Given the description of an element on the screen output the (x, y) to click on. 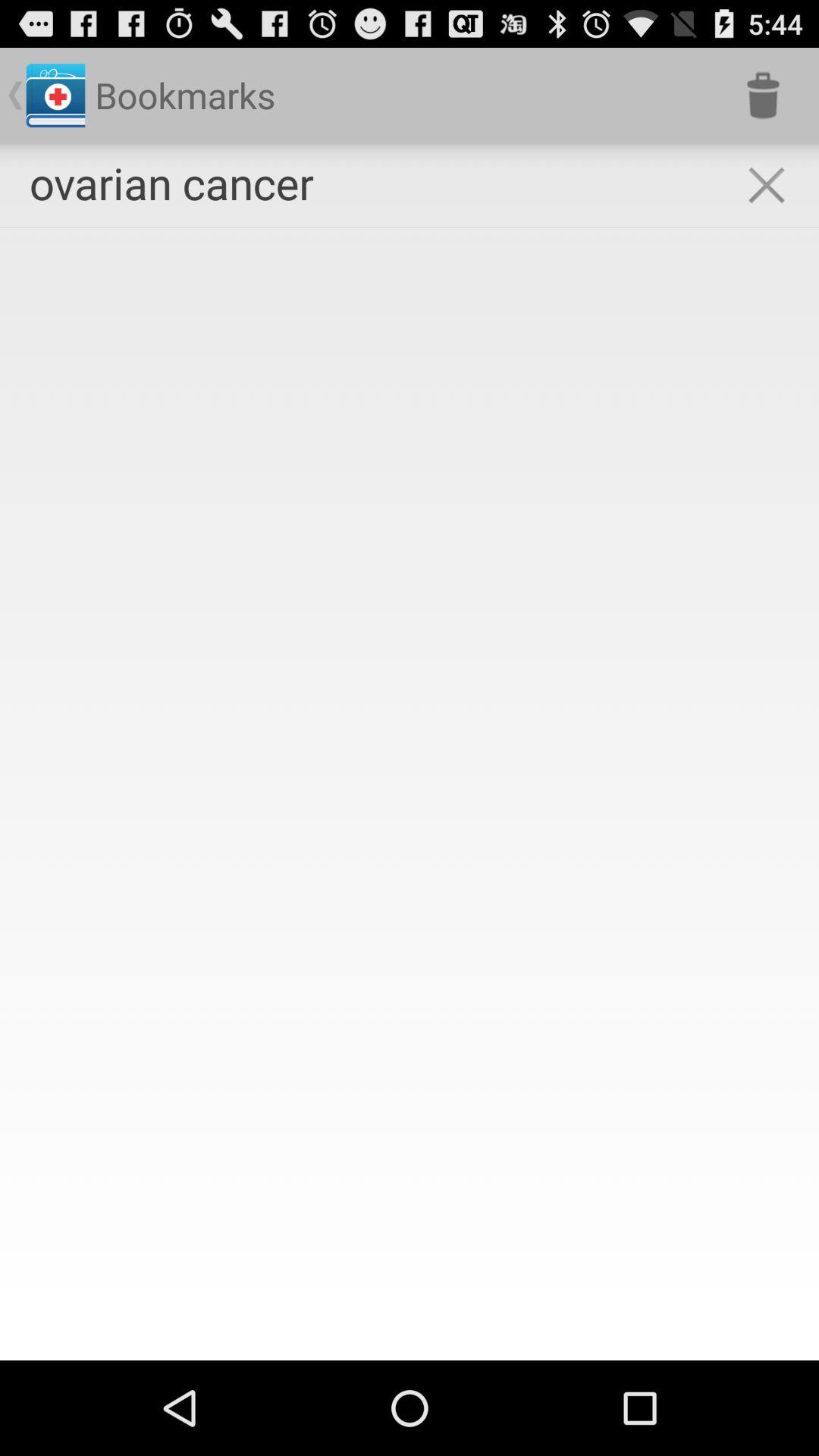
open the icon next to ovarian cancer (766, 185)
